Given the description of an element on the screen output the (x, y) to click on. 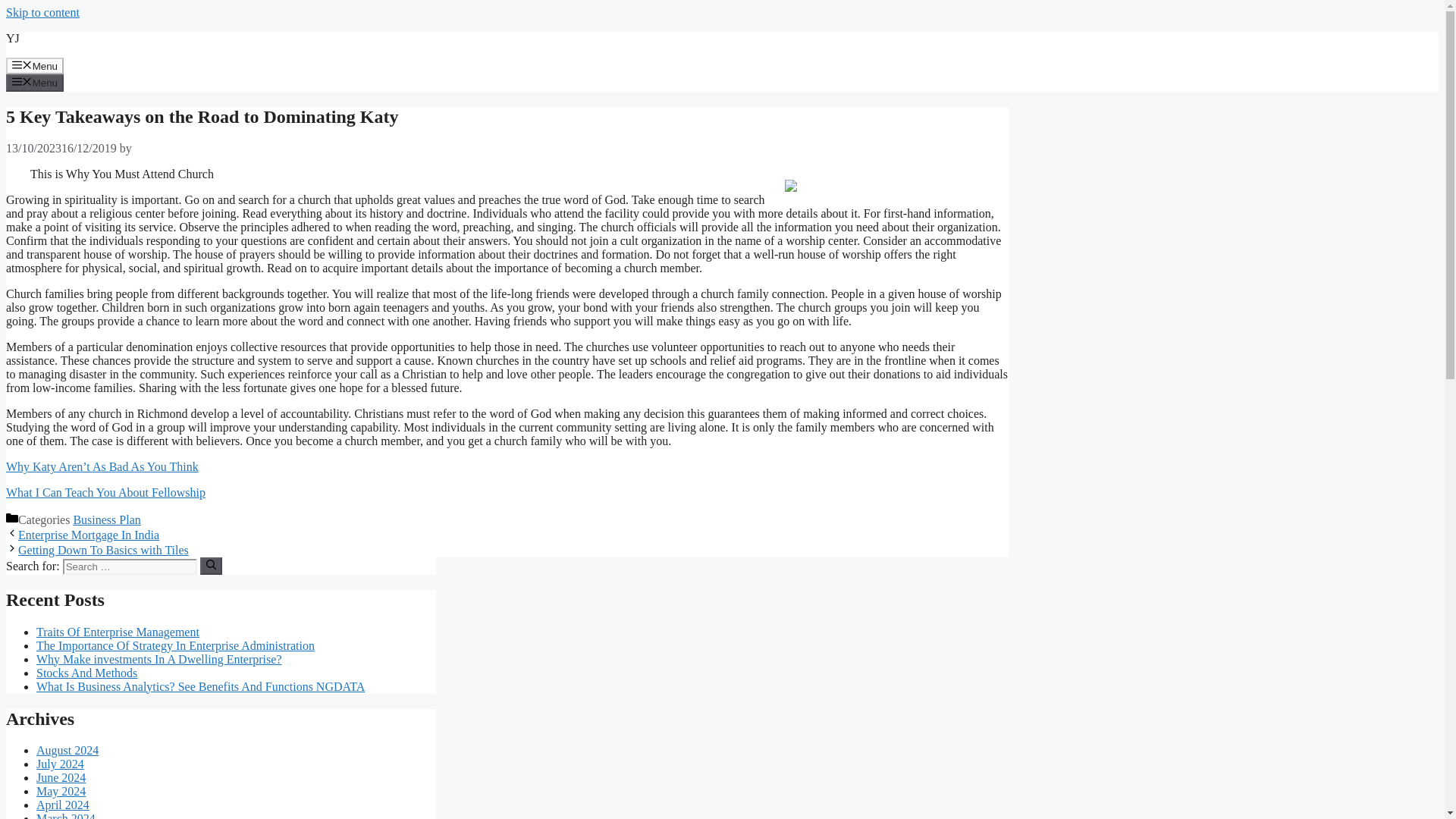
April 2024 (62, 804)
Menu (34, 82)
Skip to content (42, 11)
Why Make investments In A Dwelling Enterprise? (158, 658)
What I Can Teach You About Fellowship (105, 492)
June 2024 (60, 777)
Stocks And Methods (86, 672)
YJ (12, 38)
Traits Of Enterprise Management (117, 631)
Search for: (129, 566)
